Given the description of an element on the screen output the (x, y) to click on. 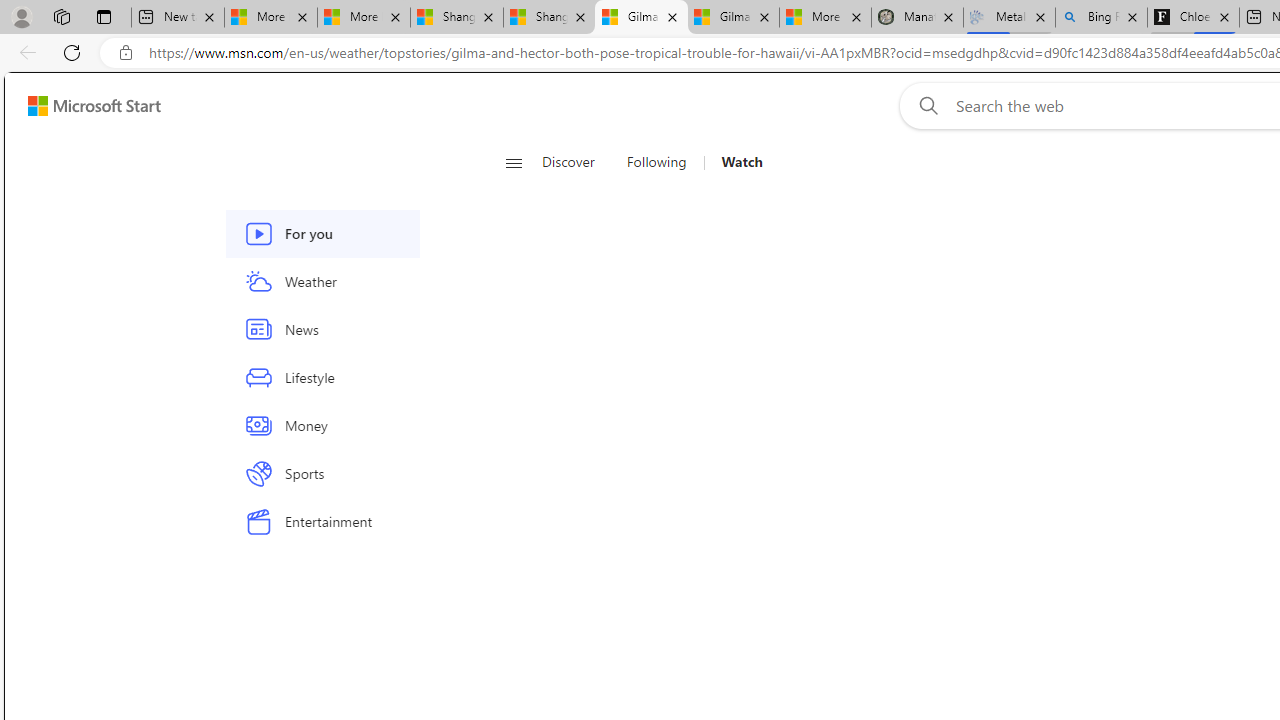
Shanghai, China weather forecast | Microsoft Weather (549, 17)
Watch (734, 162)
Following (656, 162)
Skip to footer (82, 105)
Following (658, 162)
Manatee Mortality Statistics | FWC (916, 17)
Skip to content (86, 105)
Discover (575, 162)
